Given the description of an element on the screen output the (x, y) to click on. 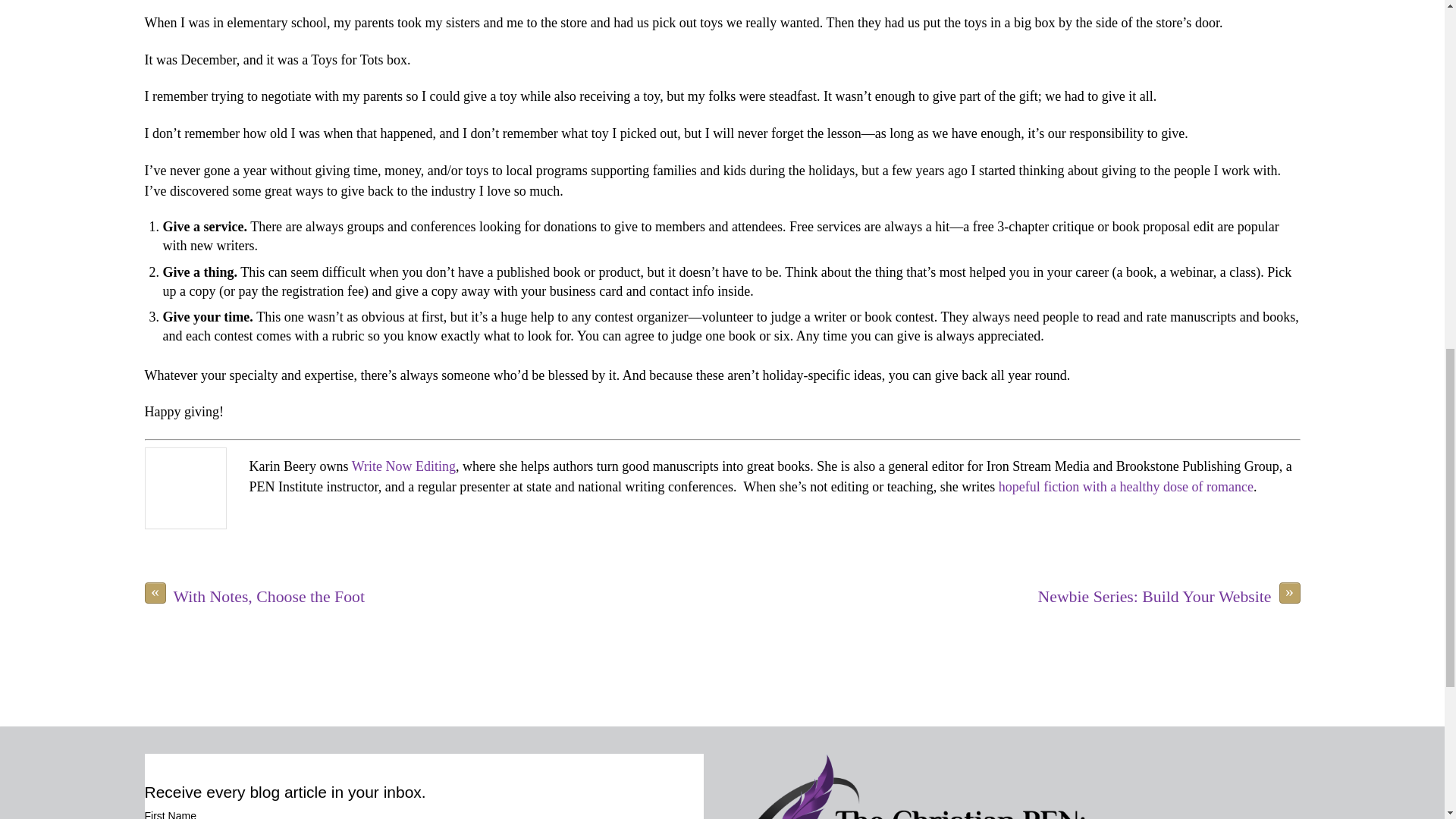
 hopeful fiction with a healthy dose of romance (1123, 486)
Write Now Editing (403, 466)
PEN web banner (1020, 785)
